Given the description of an element on the screen output the (x, y) to click on. 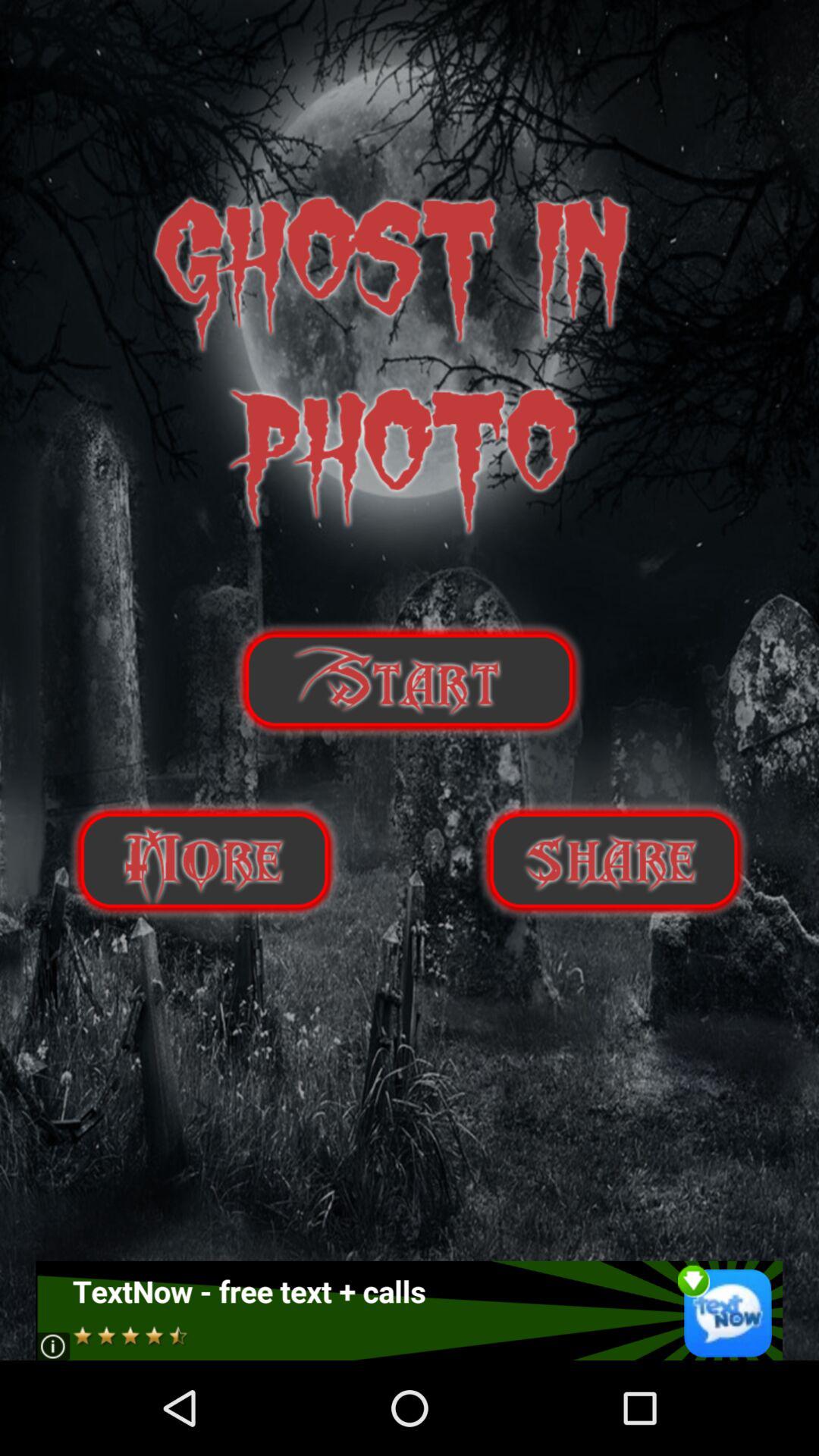
go to play option (409, 679)
